Given the description of an element on the screen output the (x, y) to click on. 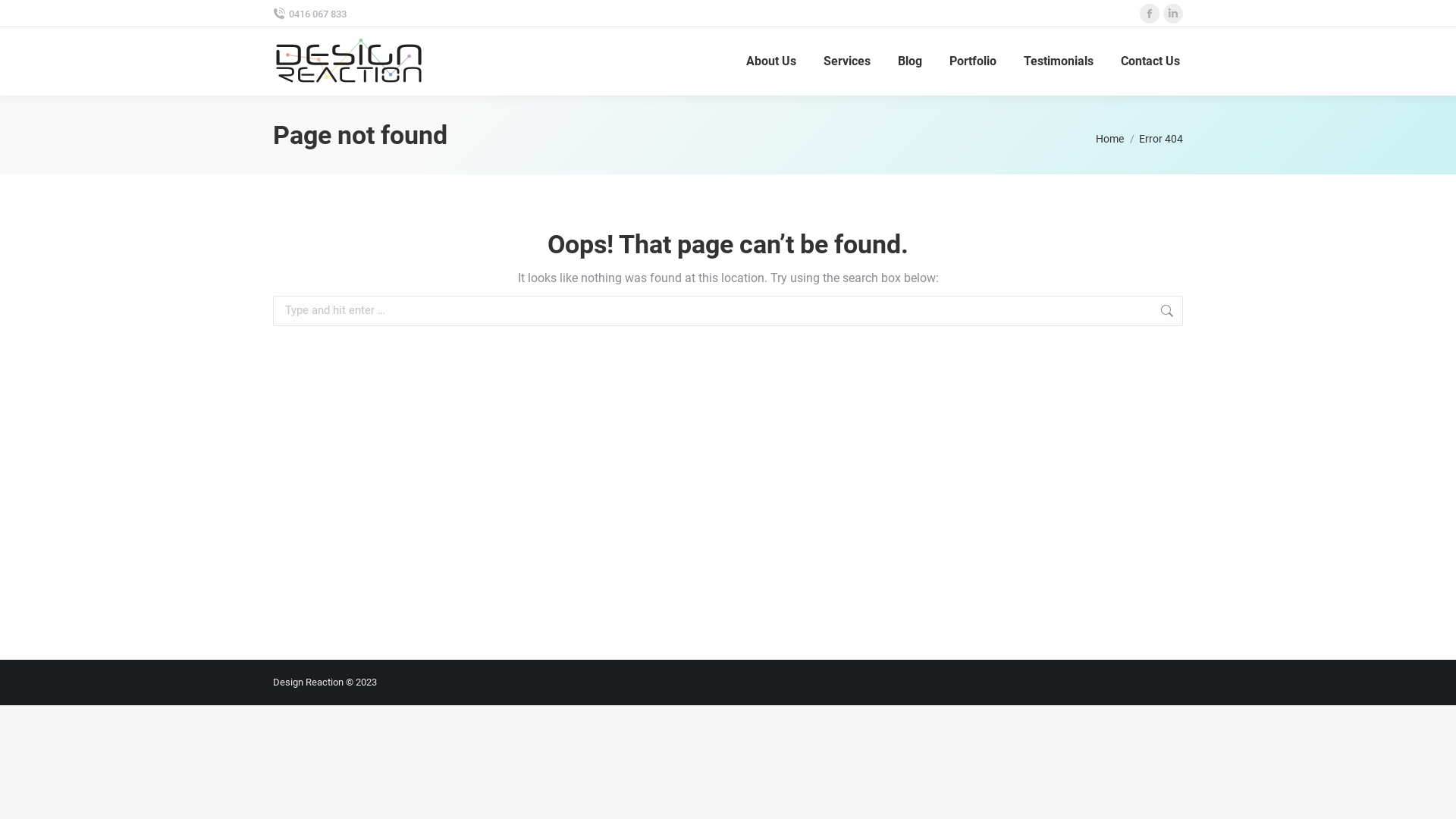
Services Element type: text (846, 60)
Testimonials Element type: text (1058, 60)
Facebook page opens in new window Element type: text (1149, 13)
Contact Us Element type: text (1150, 60)
Linkedin page opens in new window Element type: text (1173, 13)
Portfolio Element type: text (972, 60)
Blog Element type: text (909, 60)
Go! Element type: text (1206, 311)
About Us Element type: text (771, 60)
Home Element type: text (1109, 138)
0416 067 833 Element type: text (309, 13)
